Given the description of an element on the screen output the (x, y) to click on. 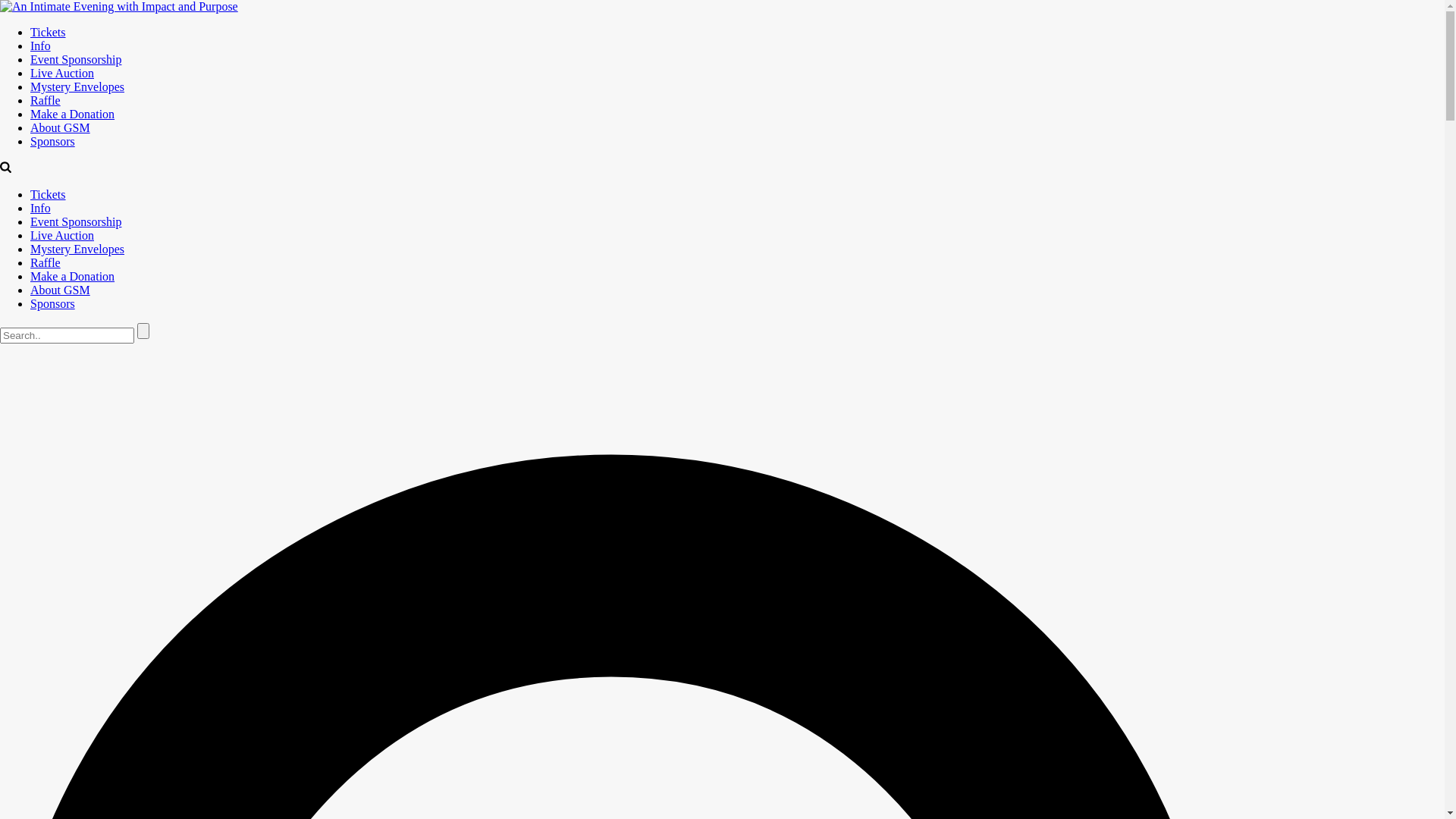
Raffle Element type: text (45, 262)
Live Auction Element type: text (62, 235)
About GSM Element type: text (60, 289)
Live Auction Element type: text (62, 72)
About GSM Element type: text (60, 127)
Tickets Element type: text (47, 31)
Make a Donation Element type: text (72, 275)
An Intimate Evening with Impact and Purpose Element type: hover (119, 6)
Tickets Element type: text (47, 194)
Make a Donation Element type: text (72, 113)
Raffle Element type: text (45, 100)
Mystery Envelopes Element type: text (77, 86)
Sponsors Element type: text (52, 303)
Mystery Envelopes Element type: text (77, 248)
Event Sponsorship Element type: text (75, 221)
Info Element type: text (40, 45)
Event Sponsorship Element type: text (75, 59)
Info Element type: text (40, 207)
Sponsors Element type: text (52, 140)
